Given the description of an element on the screen output the (x, y) to click on. 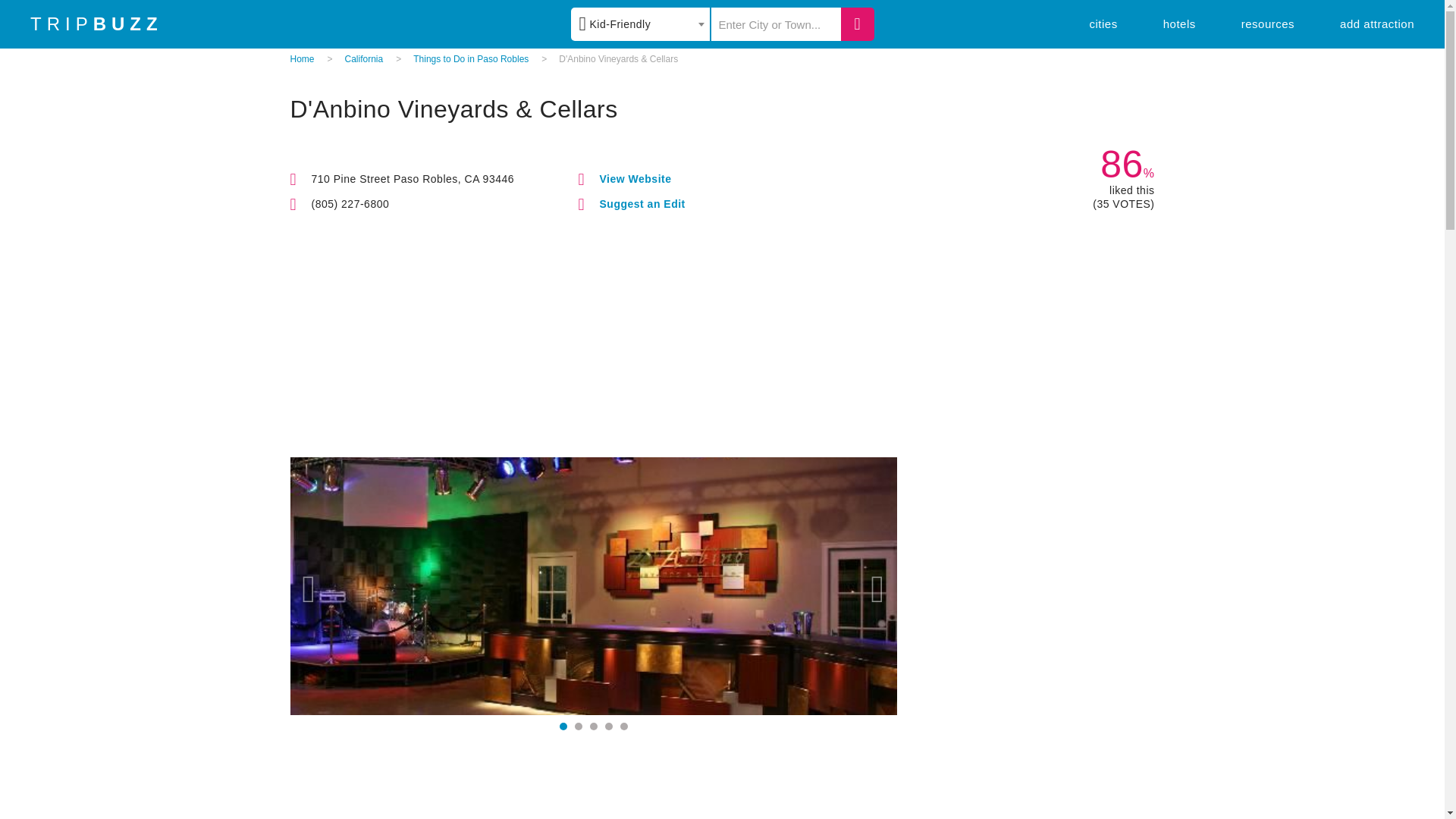
5 (623, 726)
Things to Do in Paso Robles (470, 59)
Login (832, 130)
3 (592, 726)
add attraction (1376, 23)
Resources (1267, 23)
View Website (634, 178)
1 (563, 726)
hotels (1179, 23)
Kid-Friendly (639, 24)
TRIPBUZZ (96, 24)
resources (1267, 23)
Suggest an Edit (641, 203)
2 (578, 726)
4 (608, 726)
